Given the description of an element on the screen output the (x, y) to click on. 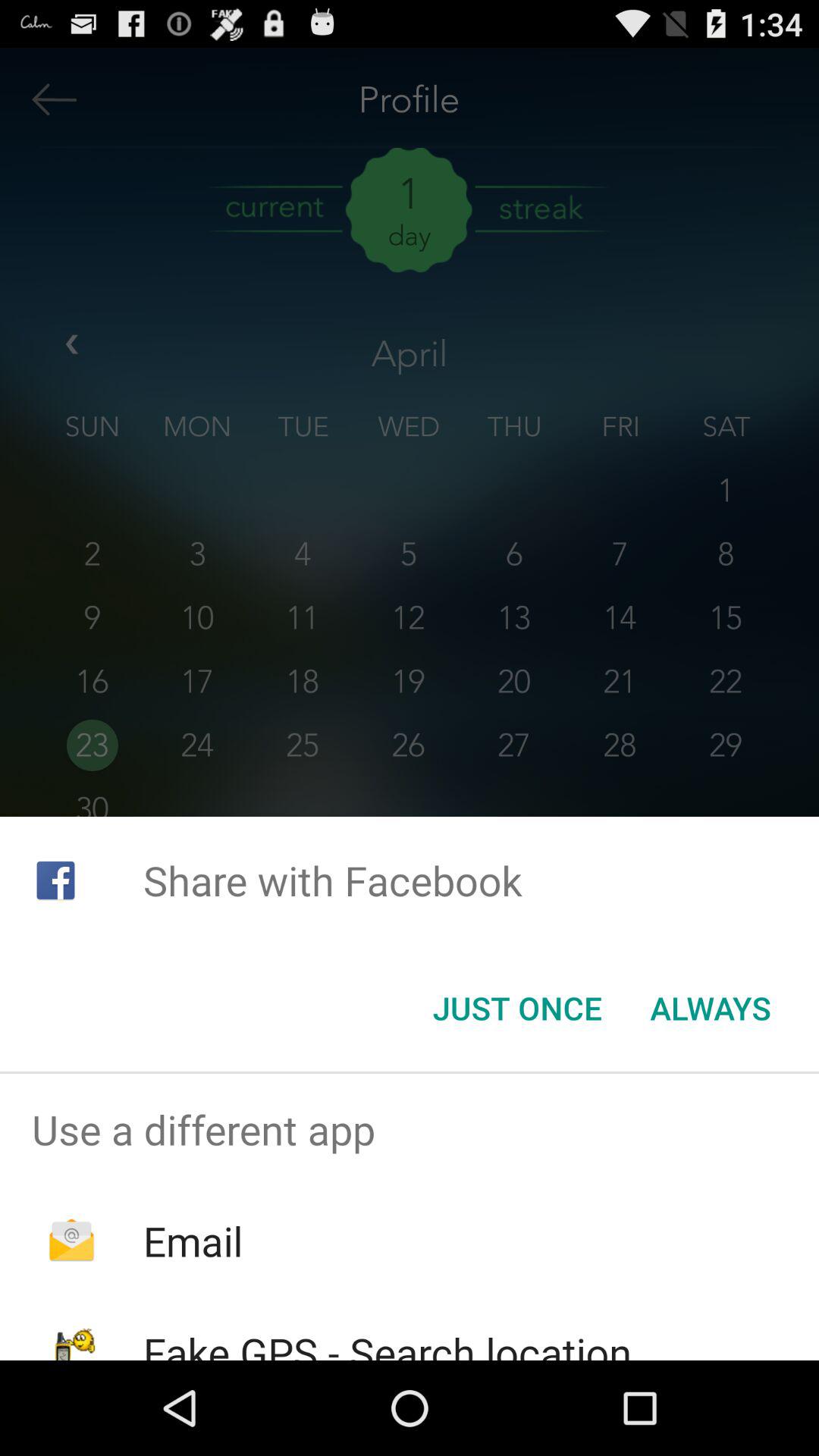
scroll until the just once icon (517, 1007)
